Given the description of an element on the screen output the (x, y) to click on. 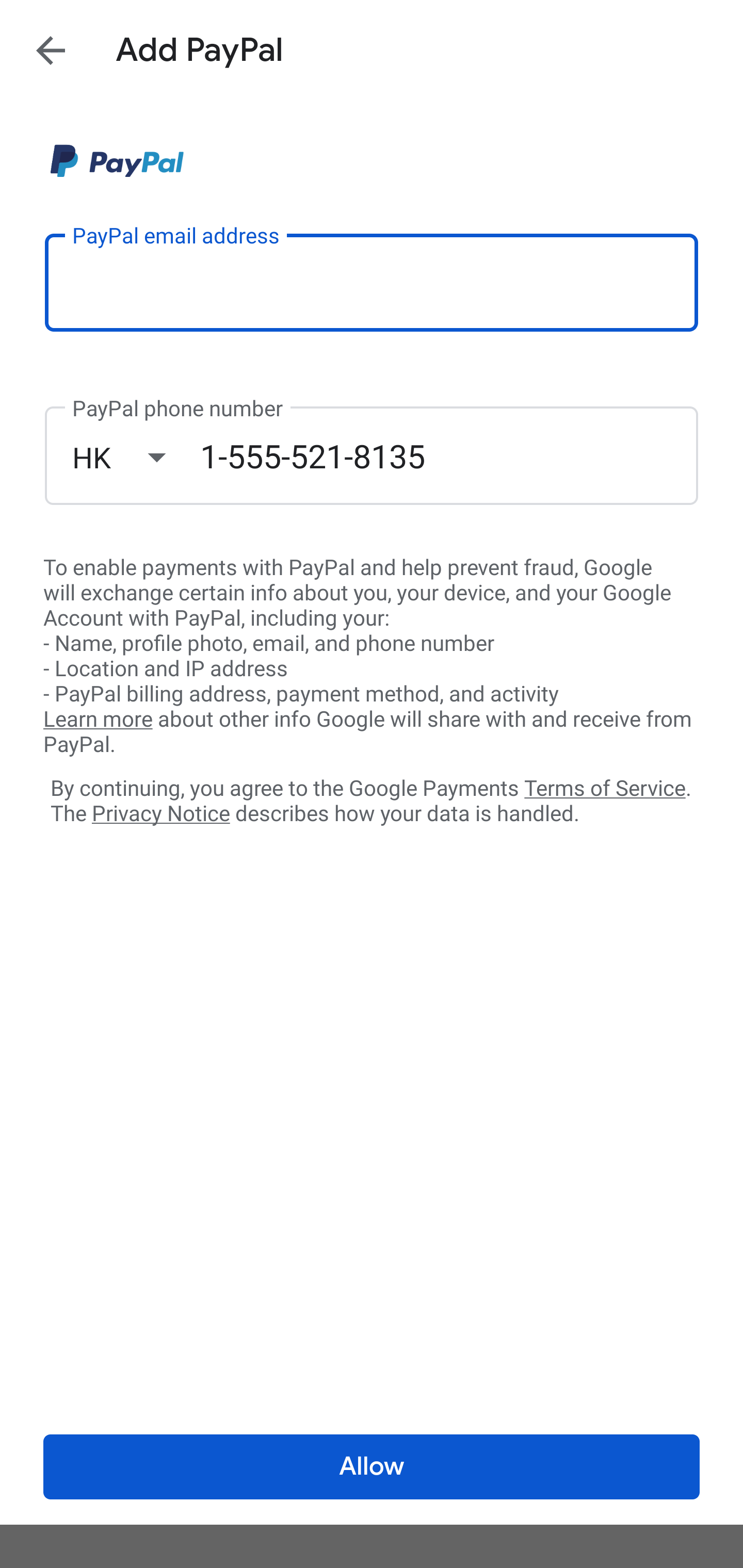
Navigate up (50, 50)
PayPal email address (371, 282)
HK (135, 456)
Learn more (97, 719)
Terms of Service (604, 787)
Privacy Notice (160, 814)
Allow (371, 1466)
